Given the description of an element on the screen output the (x, y) to click on. 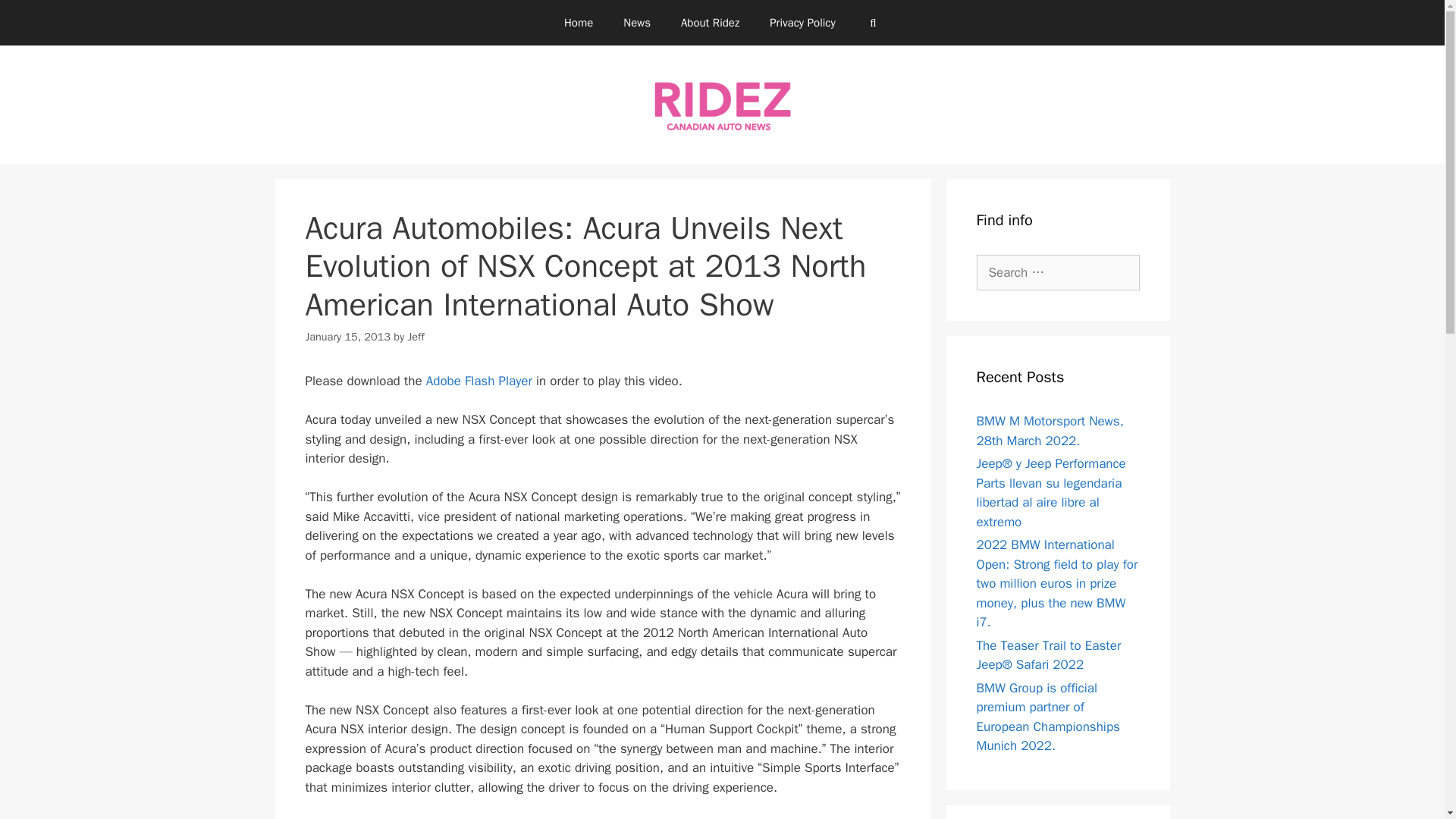
Privacy Policy (802, 22)
View all posts by Jeff (416, 336)
Adobe Flash Player (479, 381)
Search (35, 18)
Home (578, 22)
Search for: (1058, 272)
About Ridez (709, 22)
BMW M Motorsport News, 28th March 2022. (1050, 430)
News (636, 22)
Jeff (416, 336)
